Given the description of an element on the screen output the (x, y) to click on. 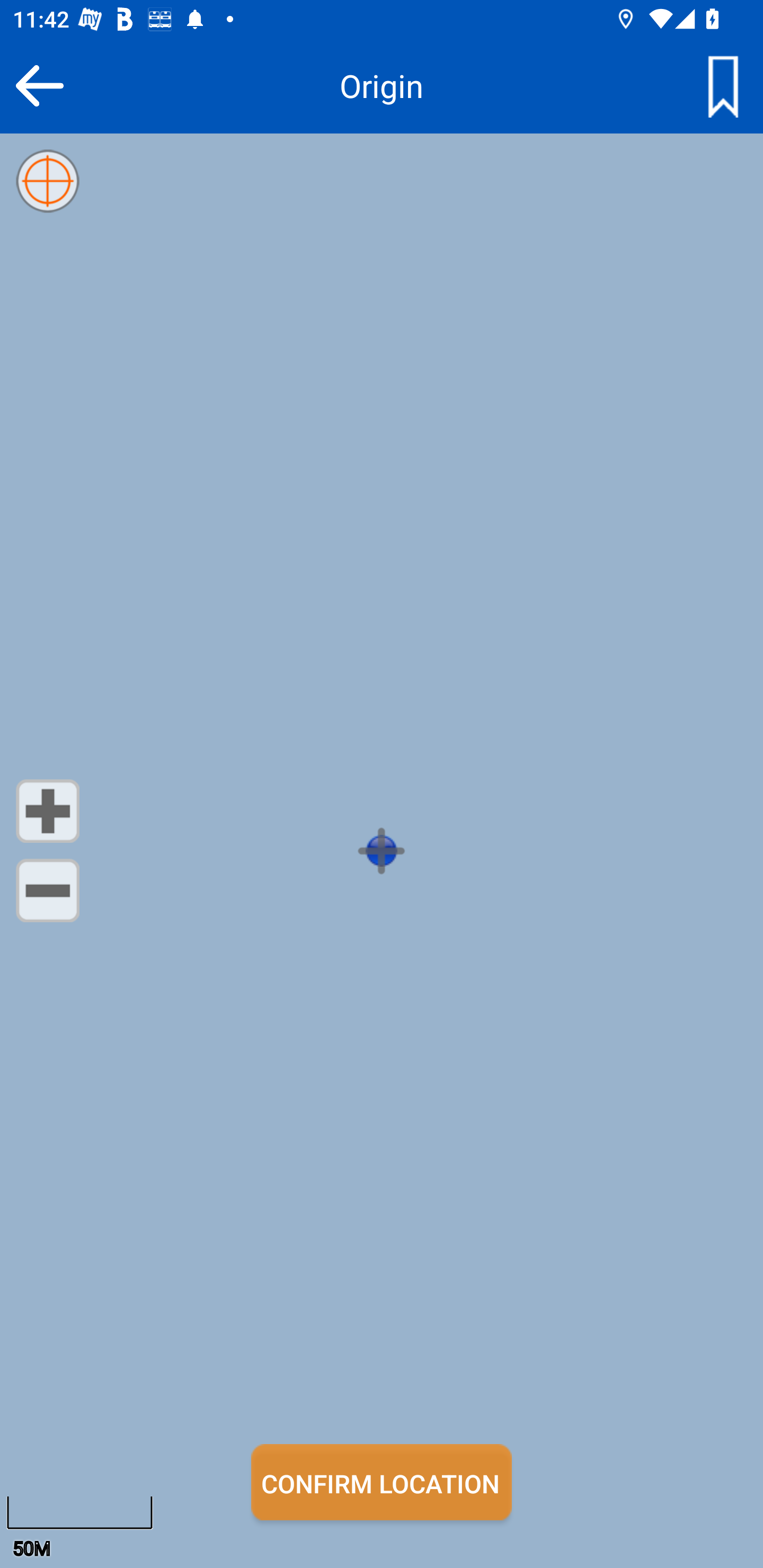
Add bookmark (723, 85)
Back (39, 85)
CONFIRM LOCATION (381, 1482)
